Given the description of an element on the screen output the (x, y) to click on. 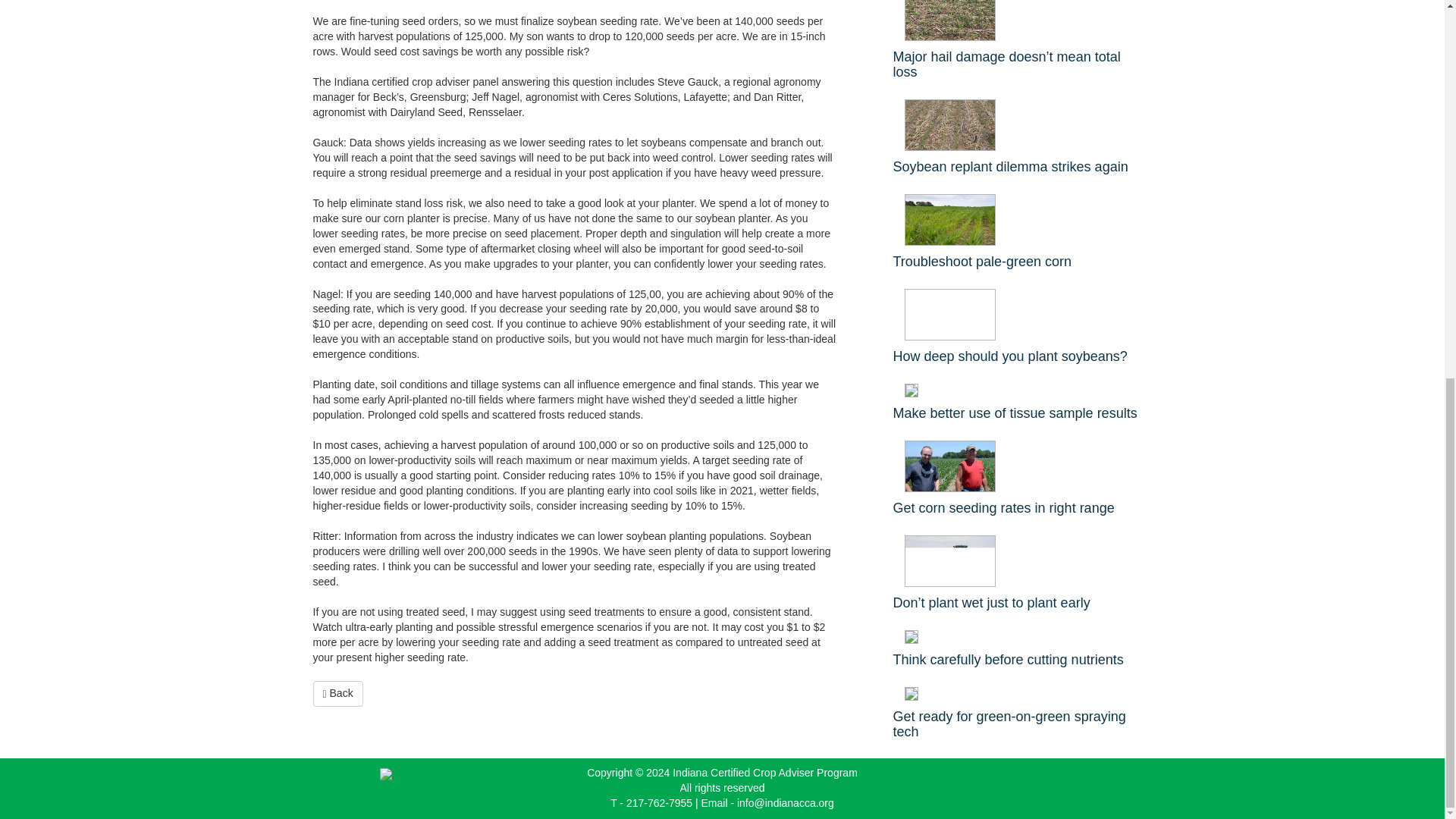
Visit our twitter page (1062, 782)
Visit our facebook page (1046, 782)
